Given the description of an element on the screen output the (x, y) to click on. 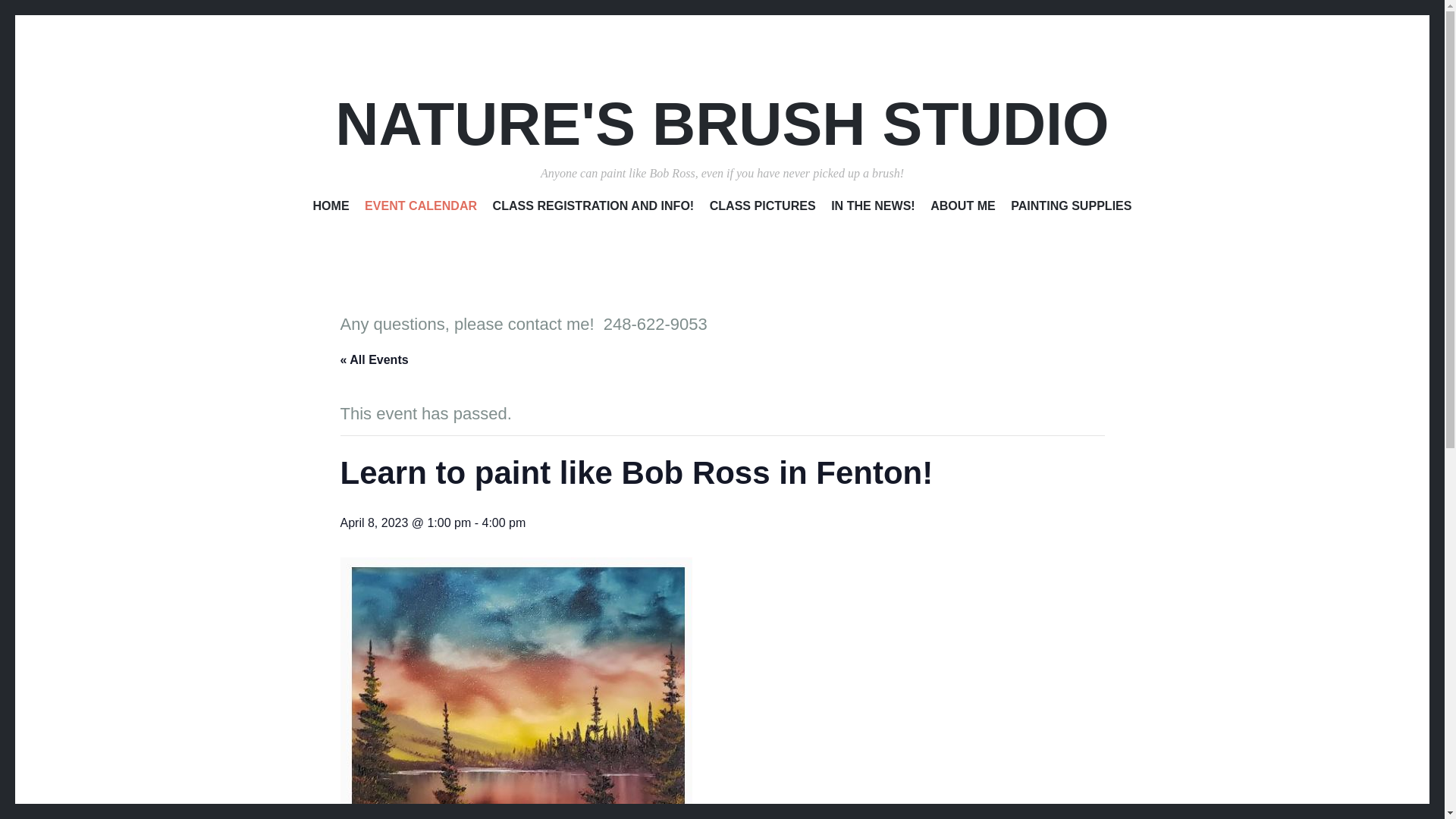
PAINTING SUPPLIES (1070, 208)
CLASS PICTURES (762, 208)
NATURE'S BRUSH STUDIO (721, 123)
ABOUT ME (962, 208)
HOME (331, 208)
CLASS REGISTRATION AND INFO! (593, 208)
EVENT CALENDAR (421, 208)
IN THE NEWS! (873, 208)
